Given the description of an element on the screen output the (x, y) to click on. 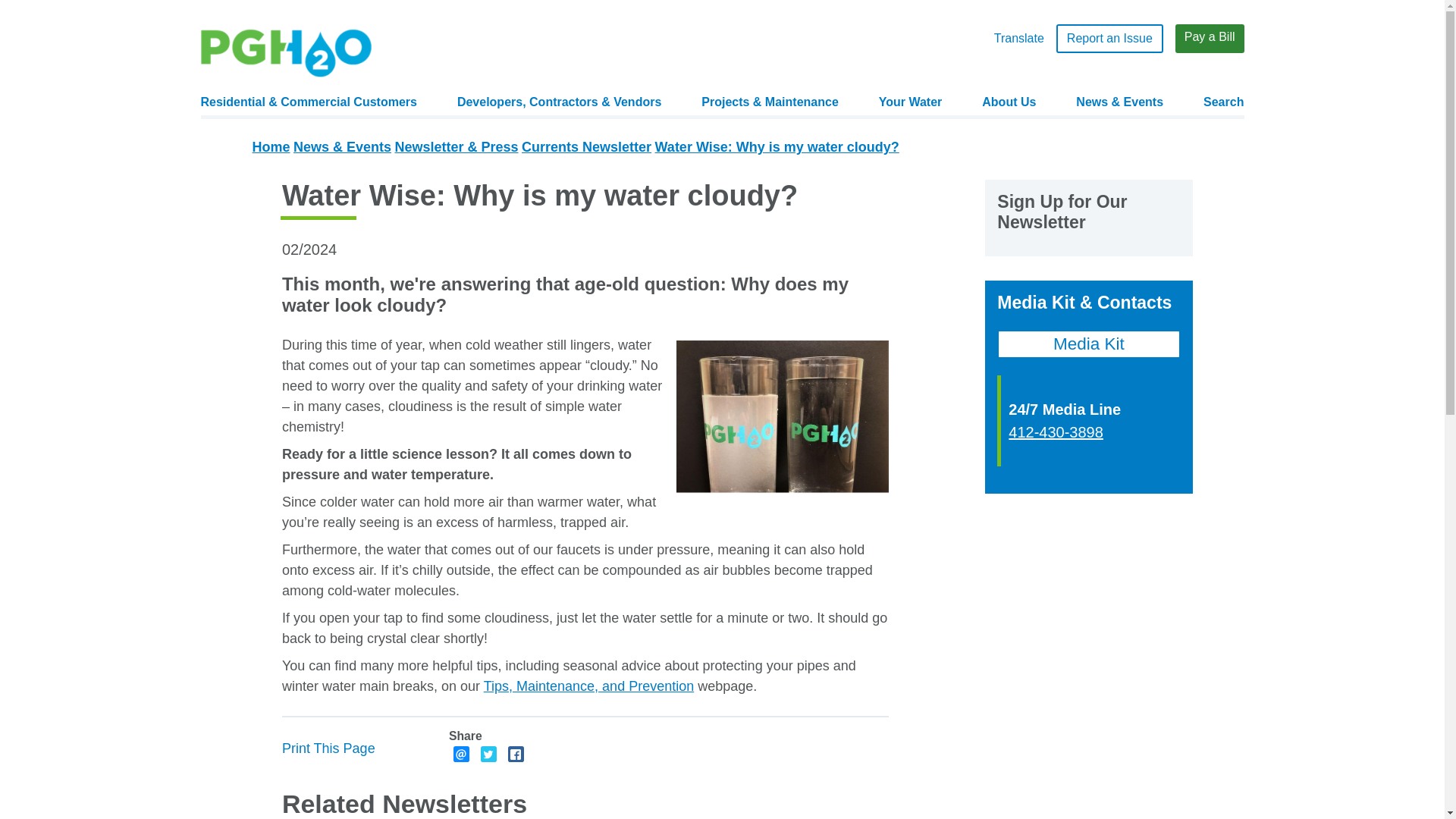
Service Outages (815, 129)
Your Water Overview (992, 129)
Browse contracting opportunities (570, 129)
Information for projects involving a service connection (570, 135)
PWSA's ongoing water main replacement program (815, 129)
About Us (1008, 101)
Your Water (910, 101)
Summary of water, sewer, and stormwater services (992, 129)
